Given the description of an element on the screen output the (x, y) to click on. 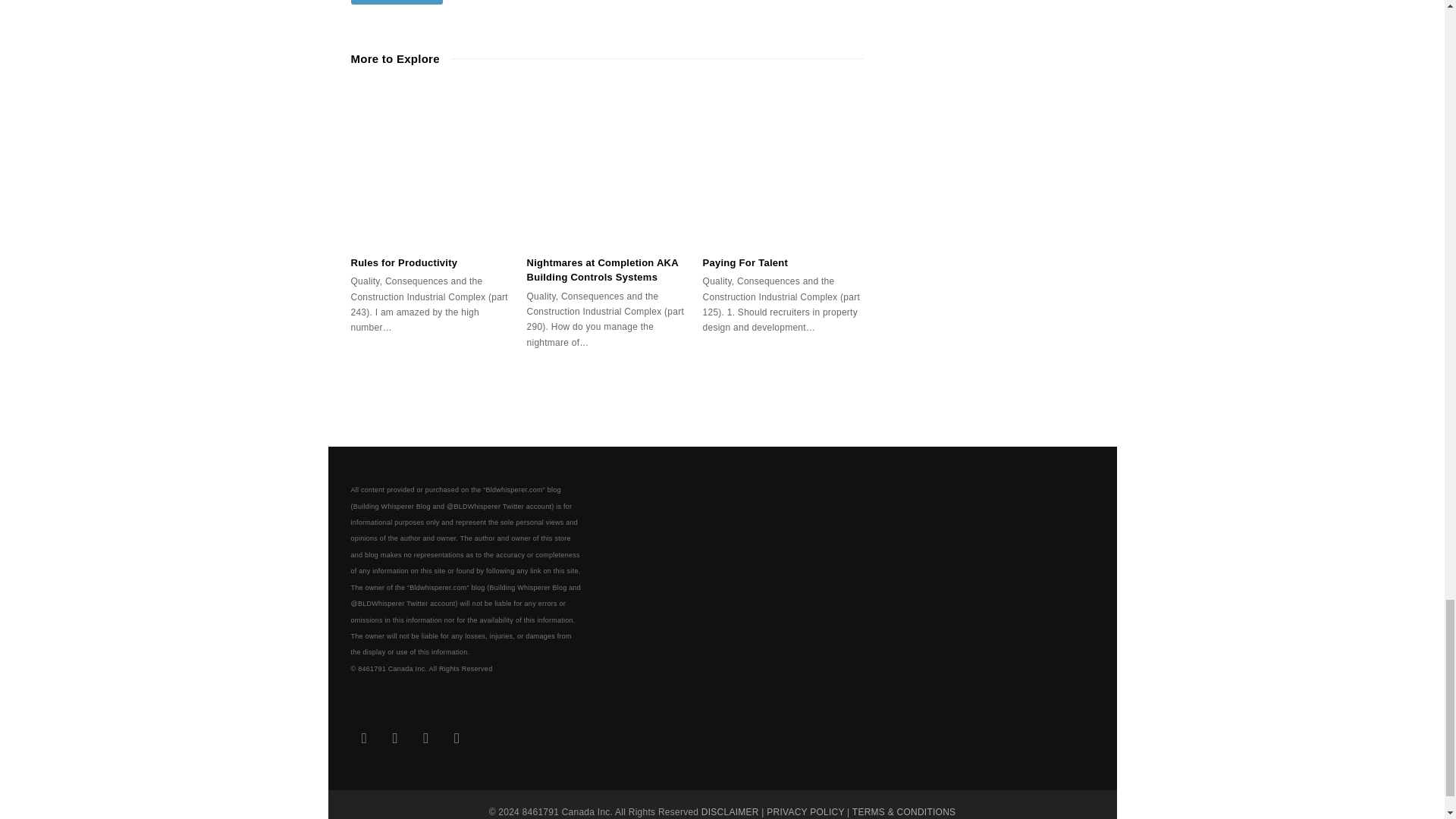
Rules for Productivity (430, 164)
RSS (457, 738)
Twitter (363, 738)
Nightmares at Completion AKA Building Controls Systems (607, 164)
Youtube (425, 738)
LinkedIn (395, 738)
Post Comment (396, 2)
Paying For Talent (783, 164)
Post Comment (396, 2)
